Given the description of an element on the screen output the (x, y) to click on. 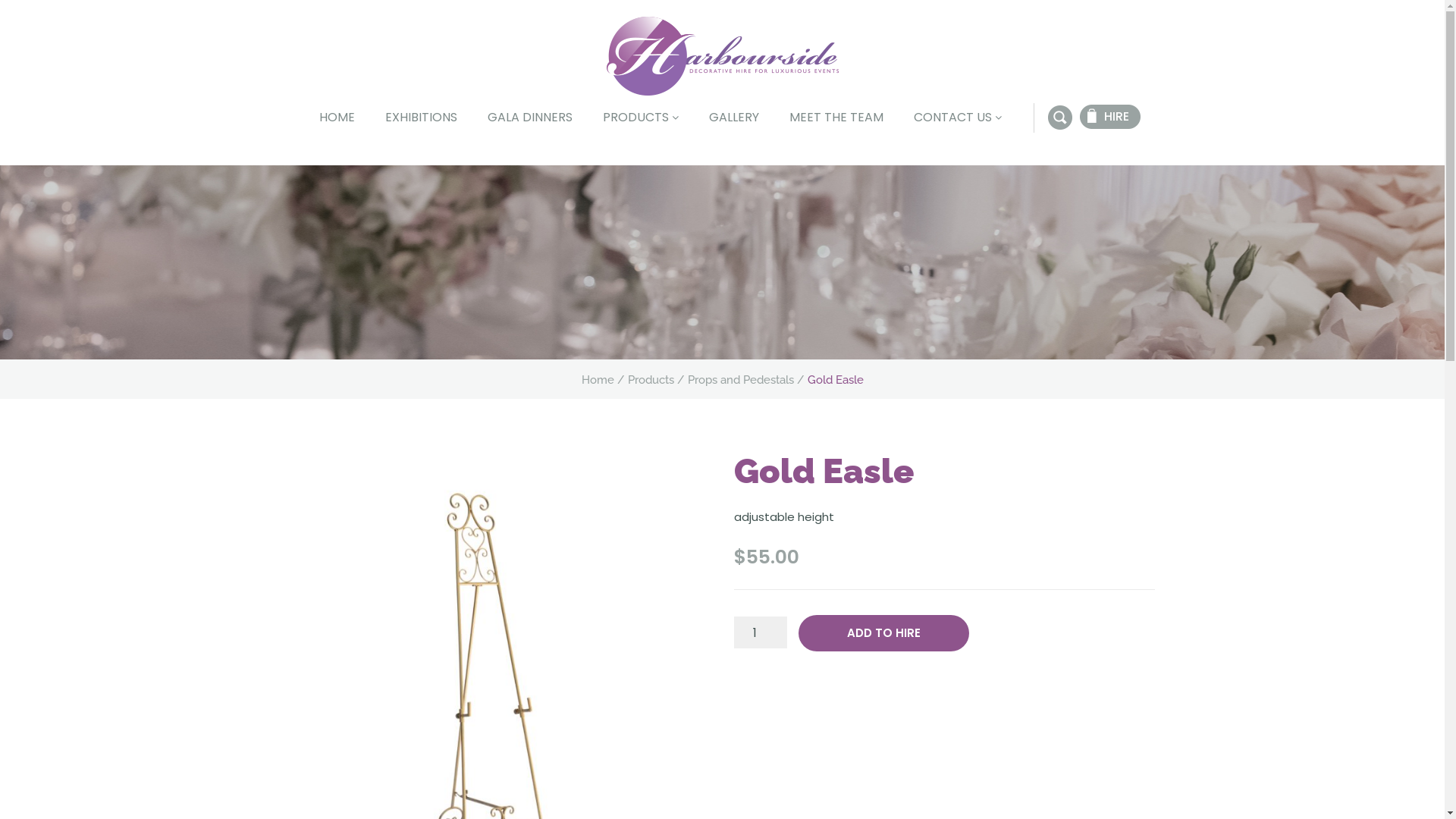
PRODUCTS Element type: text (639, 114)
GALLERY Element type: text (732, 114)
GALA DINNERS Element type: text (529, 114)
MEET THE TEAM Element type: text (835, 114)
Products Element type: text (650, 379)
HOME Element type: text (335, 114)
Qty Element type: hover (760, 632)
HIRE Element type: text (1110, 116)
ADD TO HIRE Element type: text (883, 633)
Props and Pedestals Element type: text (740, 379)
EXHIBITIONS Element type: text (420, 114)
Home Element type: text (596, 379)
8433 Element type: text (49, 13)
CONTACT US Element type: text (956, 114)
